Given the description of an element on the screen output the (x, y) to click on. 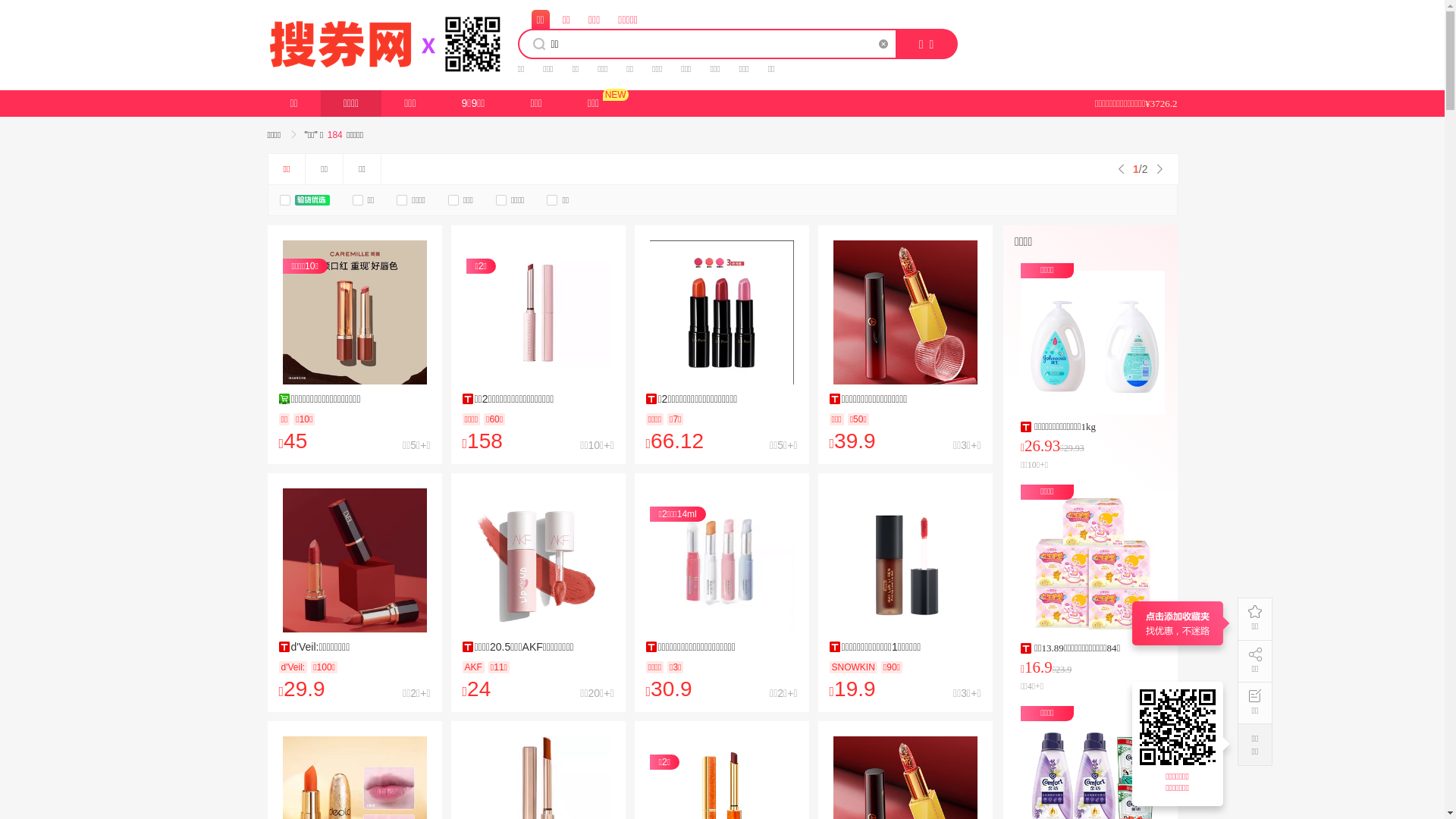
https://17.souquan.wang Element type: hover (1179, 727)
